Given the description of an element on the screen output the (x, y) to click on. 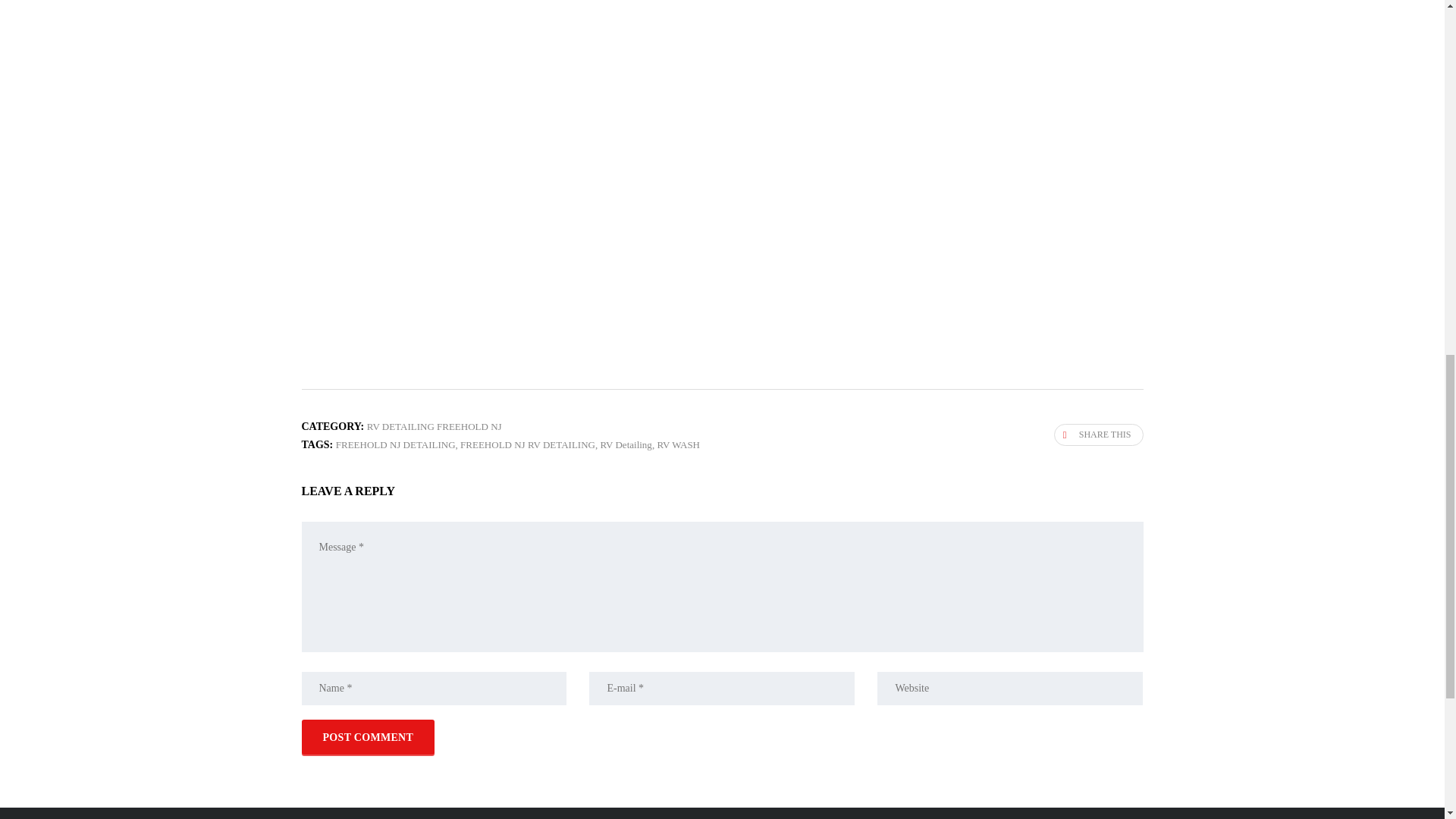
RV DETAILING FREEHOLD NJ (434, 426)
Share this (1098, 434)
RV Detailing (624, 444)
RV WASH (678, 444)
Post Comment (368, 736)
SHARE THIS (1098, 434)
FREEHOLD NJ RV DETAILING (527, 444)
Post Comment (368, 736)
FREEHOLD NJ DETAILING (395, 444)
